Given the description of an element on the screen output the (x, y) to click on. 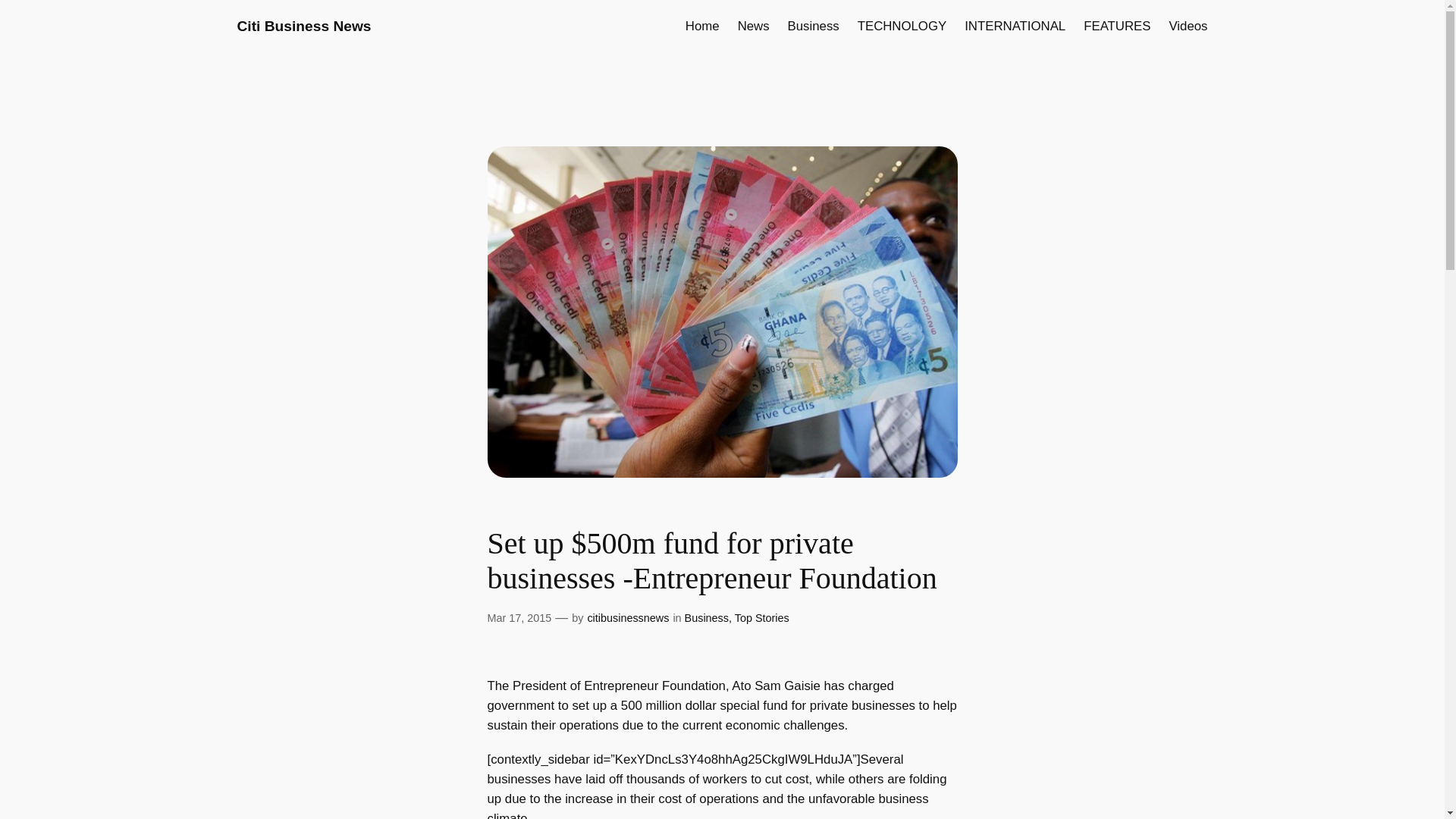
Home (702, 26)
INTERNATIONAL (1014, 26)
citibusinessnews (627, 617)
FEATURES (1116, 26)
Citi Business News (303, 26)
Business (813, 26)
Business (706, 617)
Videos (1188, 26)
Mar 17, 2015 (518, 617)
Top Stories (762, 617)
